Given the description of an element on the screen output the (x, y) to click on. 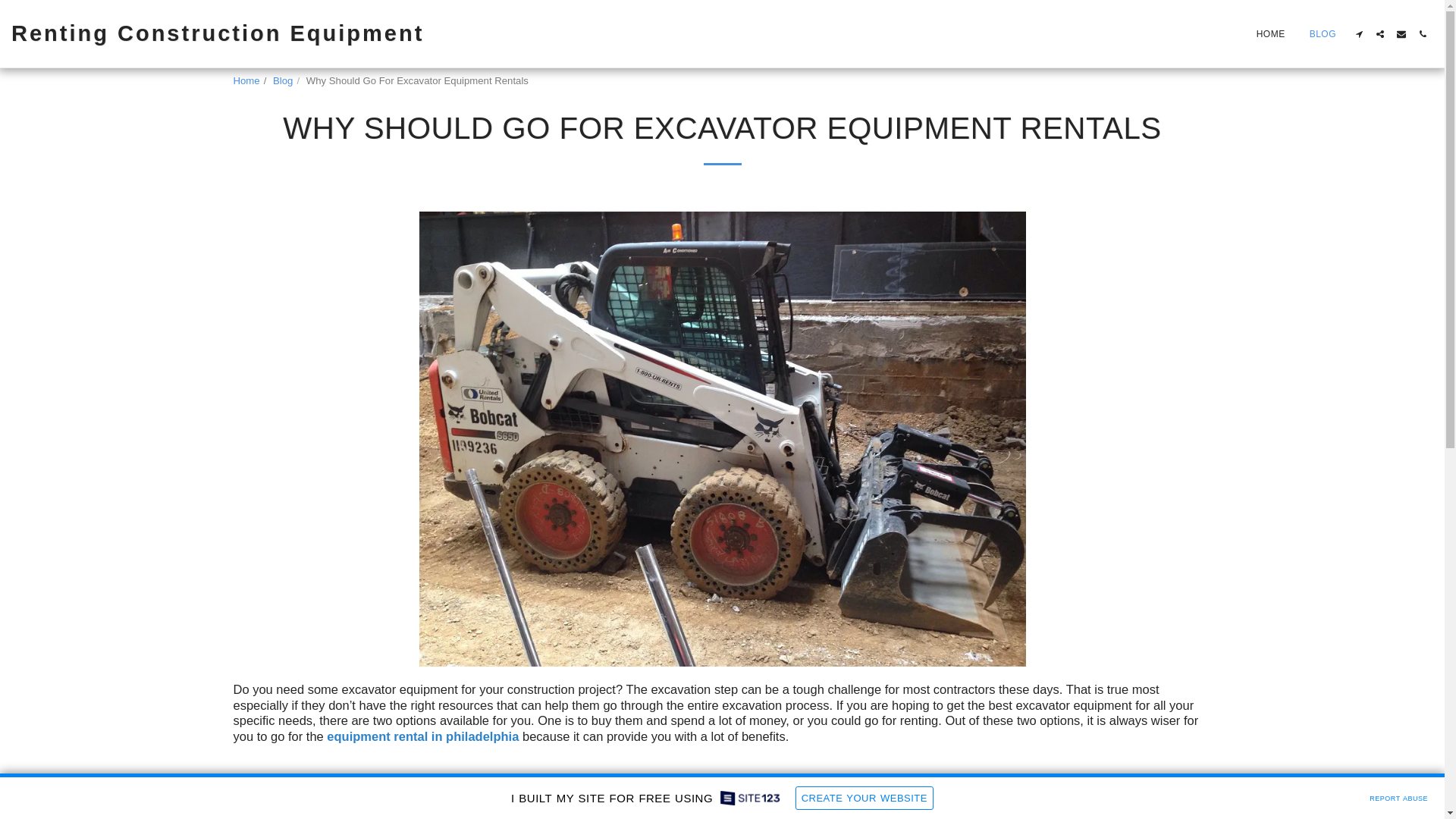
BLOG (1323, 33)
Renting Construction Equipment (217, 33)
equipment rental in philadelphia (422, 735)
Home (246, 80)
HOME (1270, 33)
Blog (282, 80)
